Given the description of an element on the screen output the (x, y) to click on. 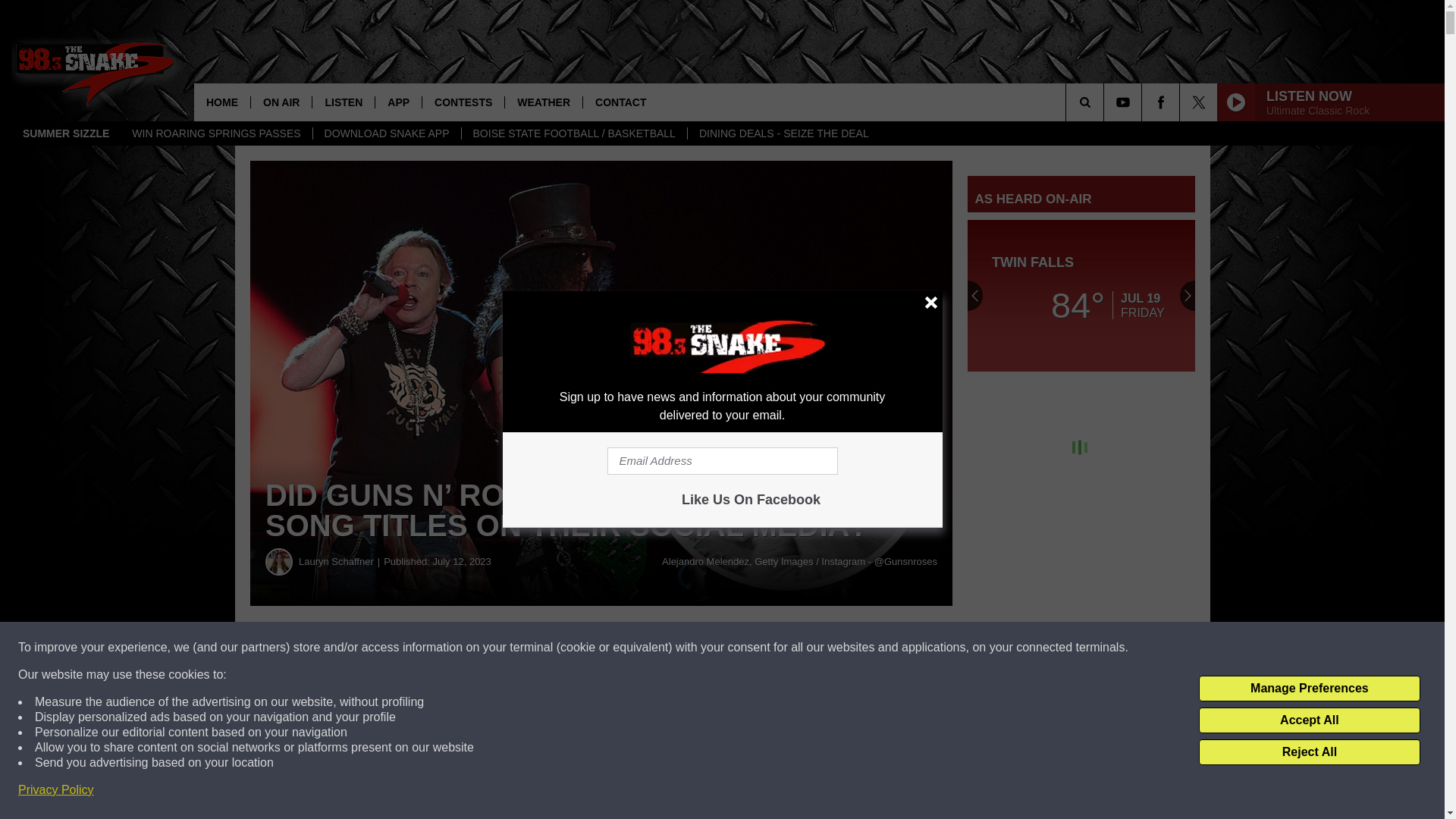
Share on Facebook (460, 647)
CONTESTS (462, 102)
WEATHER (542, 102)
Reject All (1309, 751)
Privacy Policy (55, 789)
SUMMER SIZZLE (65, 133)
HOME (221, 102)
WIN ROARING SPRINGS PASSES (215, 133)
Manage Preferences (1309, 688)
ON AIR (280, 102)
LISTEN (342, 102)
SEARCH (1106, 102)
Twin Falls Weather (1081, 295)
Email Address (722, 461)
DOWNLOAD SNAKE APP (387, 133)
